Given the description of an element on the screen output the (x, y) to click on. 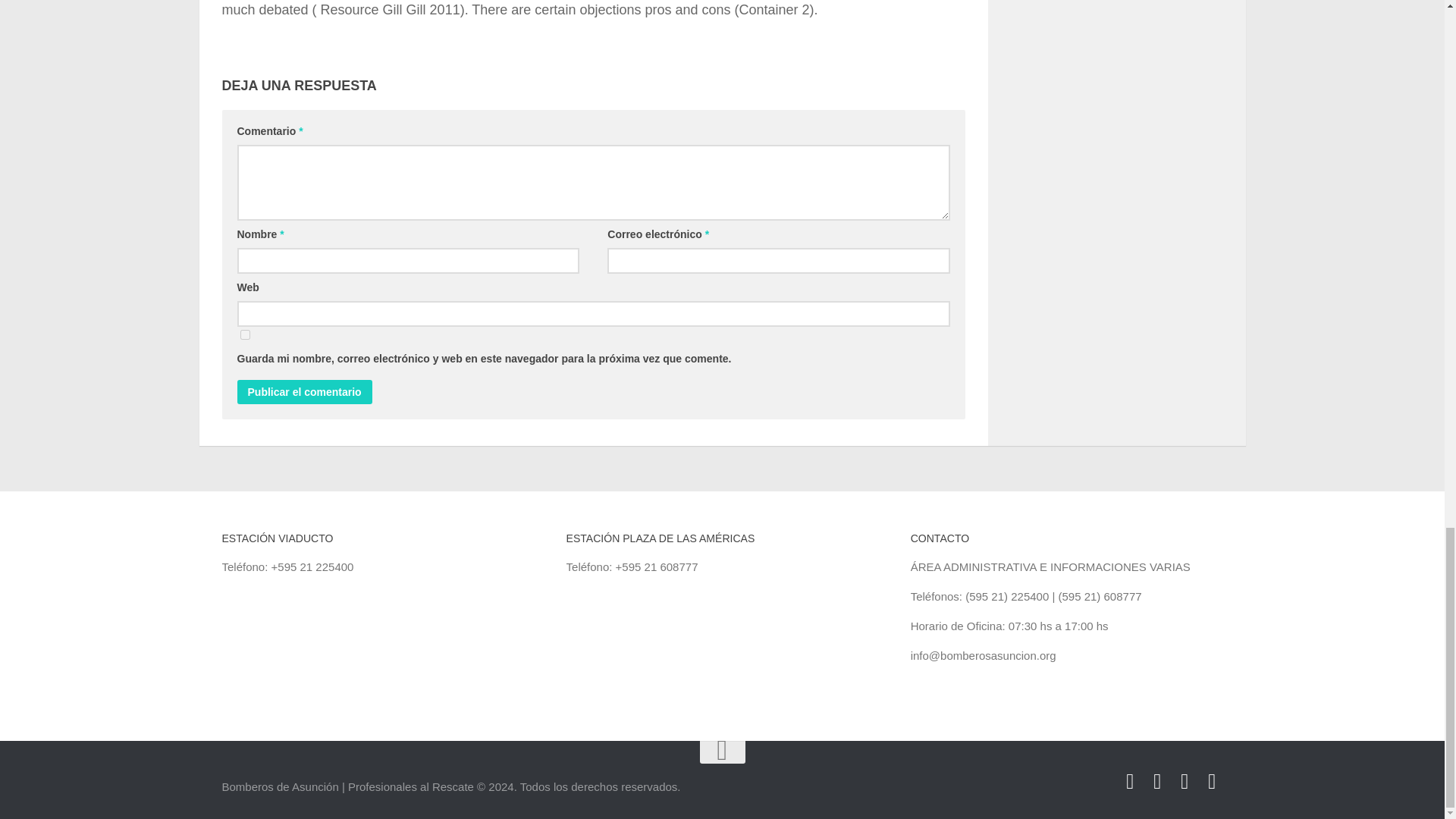
yes (244, 334)
Publicar el comentario (303, 392)
